Given the description of an element on the screen output the (x, y) to click on. 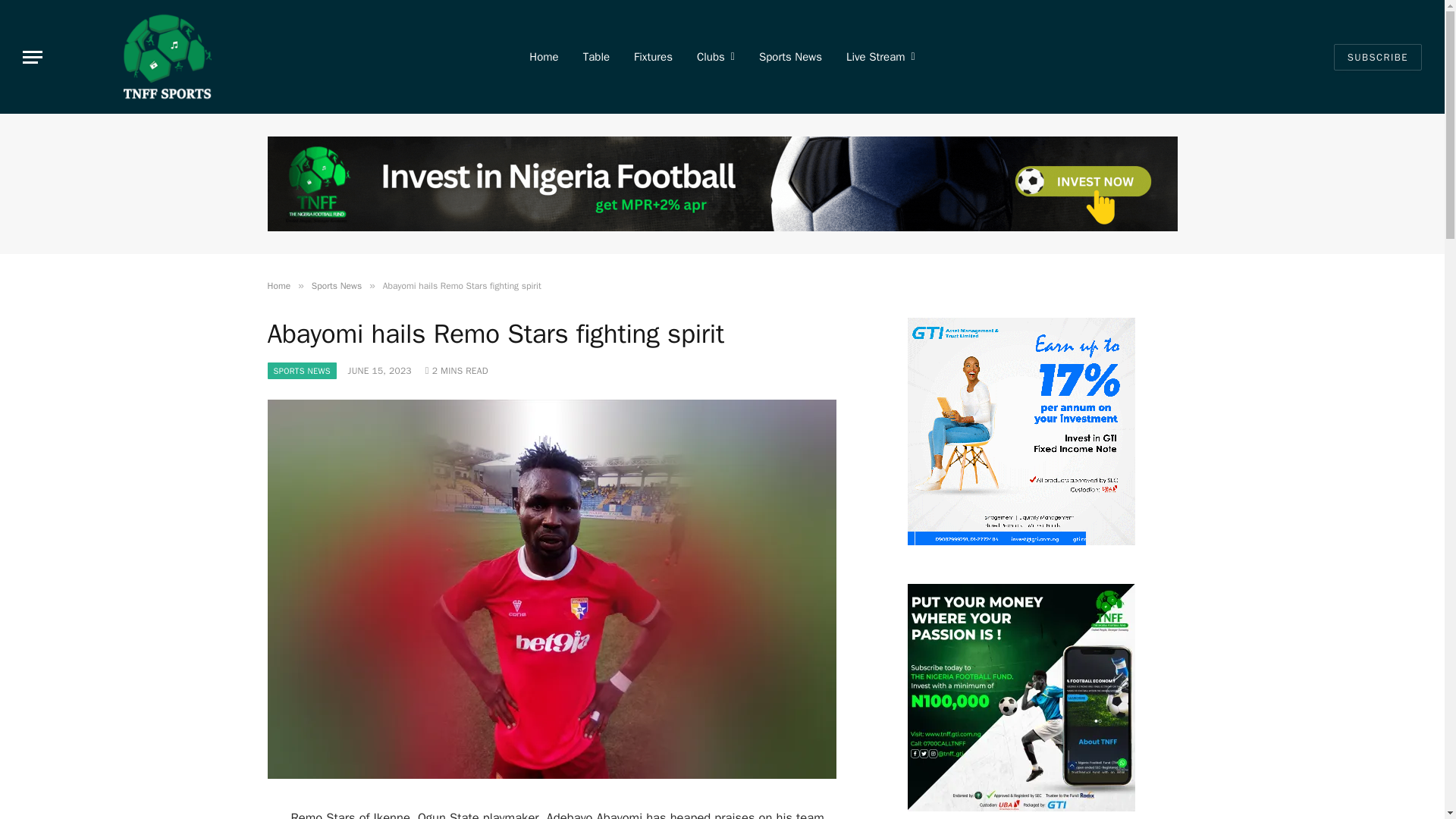
TNFF Sports (167, 56)
Abayomi hails Remo Stars fighting spirit (550, 775)
